Given the description of an element on the screen output the (x, y) to click on. 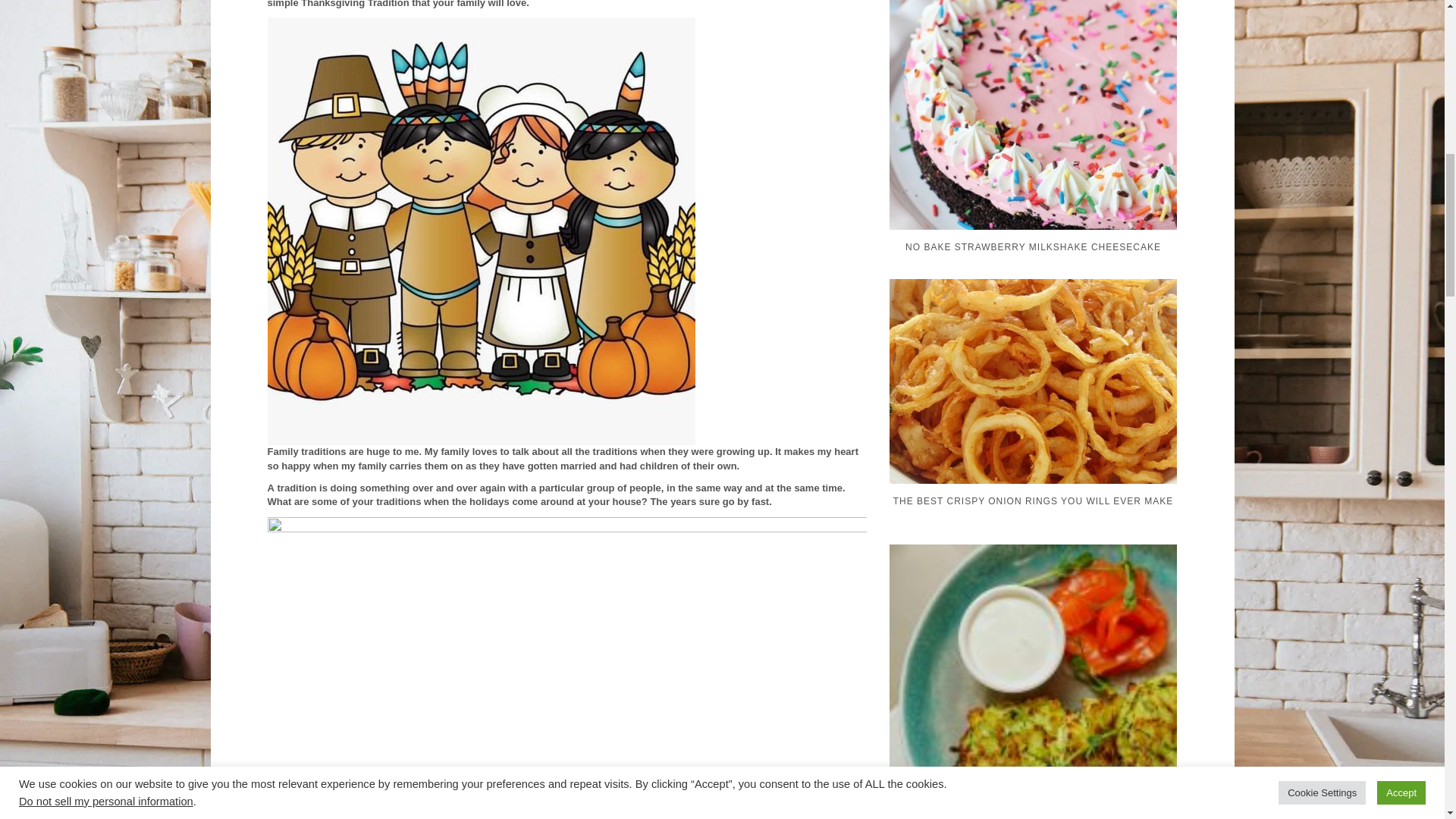
NO BAKE STRAWBERRY MILKSHAKE CHEESECAKE (1035, 177)
THE BEST CRISPY ONION RINGS YOU WILL EVER MAKE (1035, 440)
EASY ZUCHINNI FRITTERS (1035, 750)
